Given the description of an element on the screen output the (x, y) to click on. 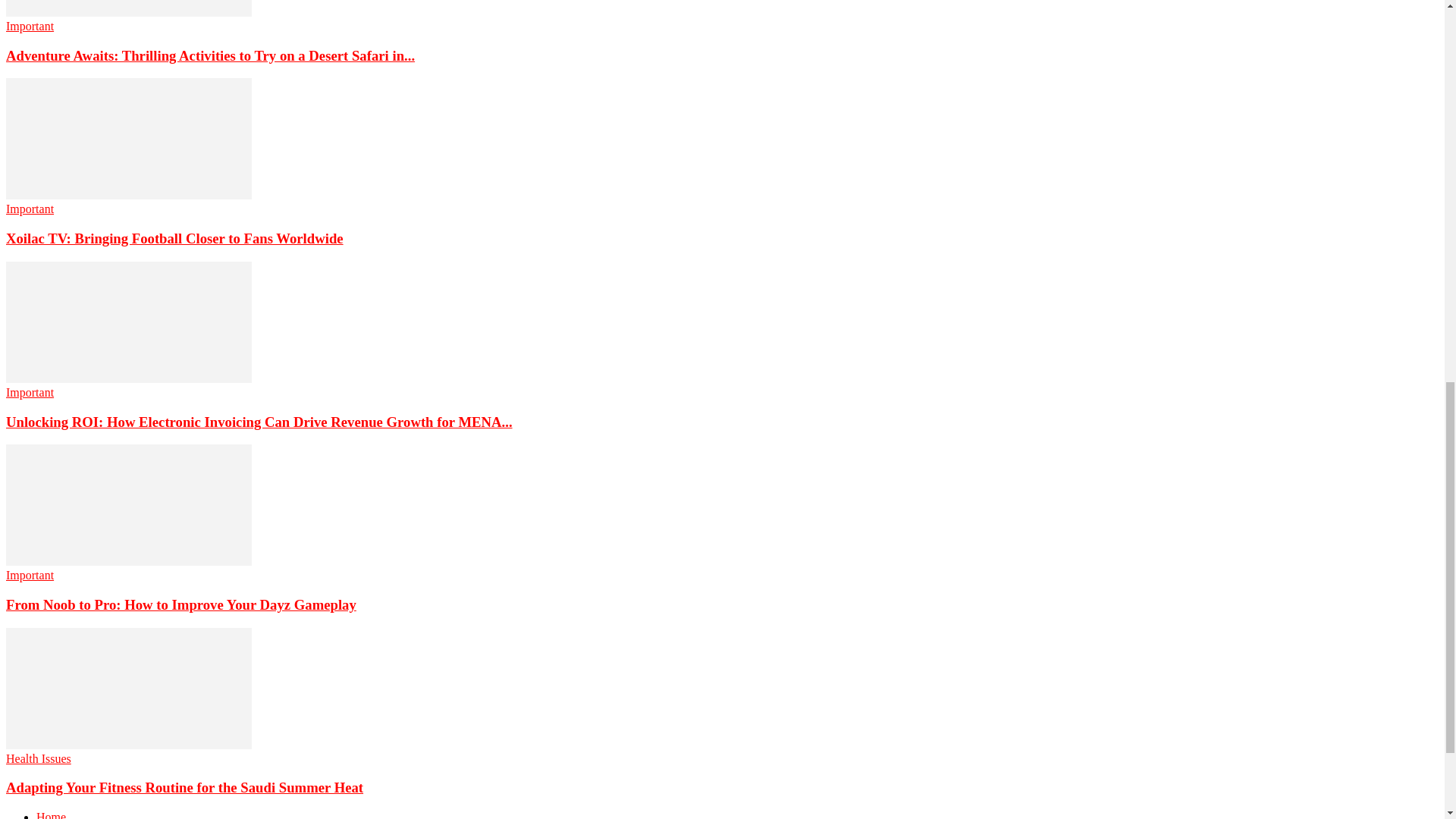
Important (29, 391)
Xoilac TV: Bringing Football Closer to Fans Worldwide (174, 238)
Xoilac TV: Bringing Football Closer to Fans Worldwide (128, 195)
Xoilac TV: Bringing Football Closer to Fans Worldwide (128, 138)
Xoilac TV: Bringing Football Closer to Fans Worldwide (174, 238)
From Noob to Pro: How to Improve Your Dayz Gameplay (128, 561)
Important (29, 208)
From Noob to Pro: How to Improve Your Dayz Gameplay (128, 504)
Important (29, 574)
From Noob to Pro: How to Improve Your Dayz Gameplay (180, 604)
